Given the description of an element on the screen output the (x, y) to click on. 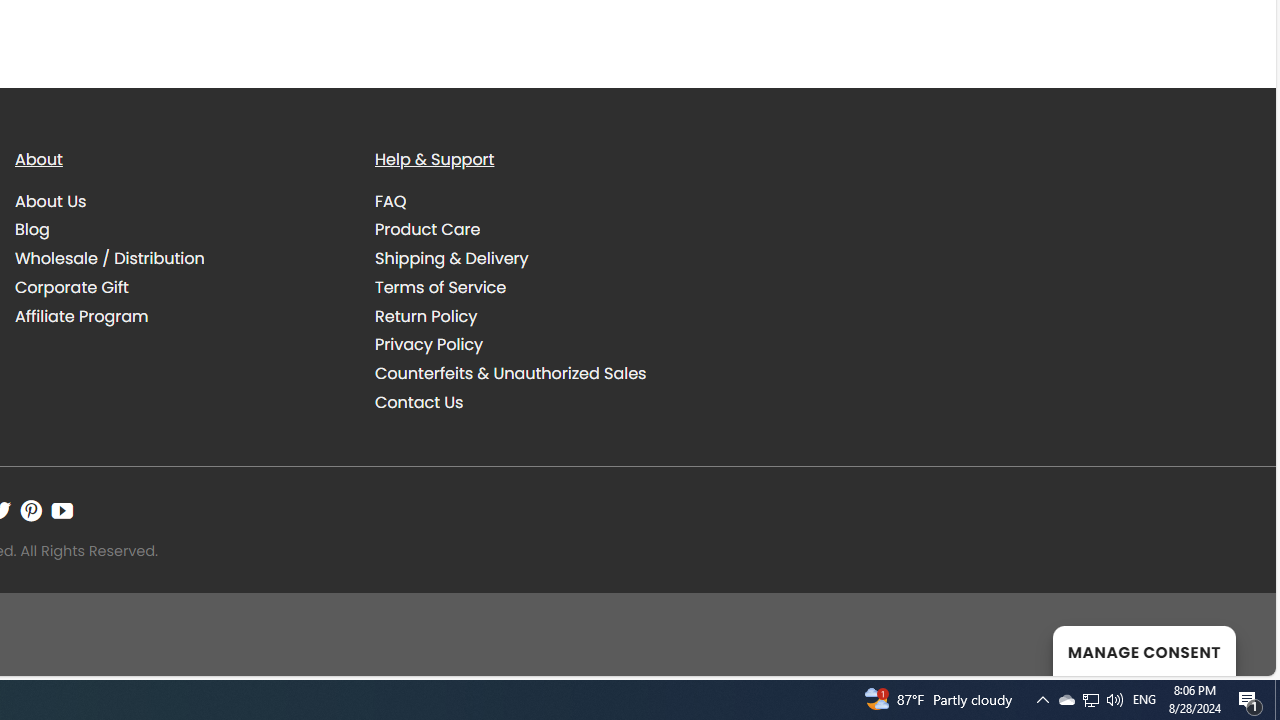
Contact Us (540, 403)
Blog (32, 229)
Affiliate Program (180, 316)
Corporate Gift (72, 286)
Privacy Policy (540, 345)
Shipping & Delivery (451, 258)
Affiliate Program (81, 315)
Corporate Gift (180, 287)
Return Policy (540, 316)
Follow on Pinterest (31, 511)
Terms of Service (540, 287)
About Us (51, 200)
FAQ (391, 200)
FAQ (540, 201)
Product Care (428, 229)
